Given the description of an element on the screen output the (x, y) to click on. 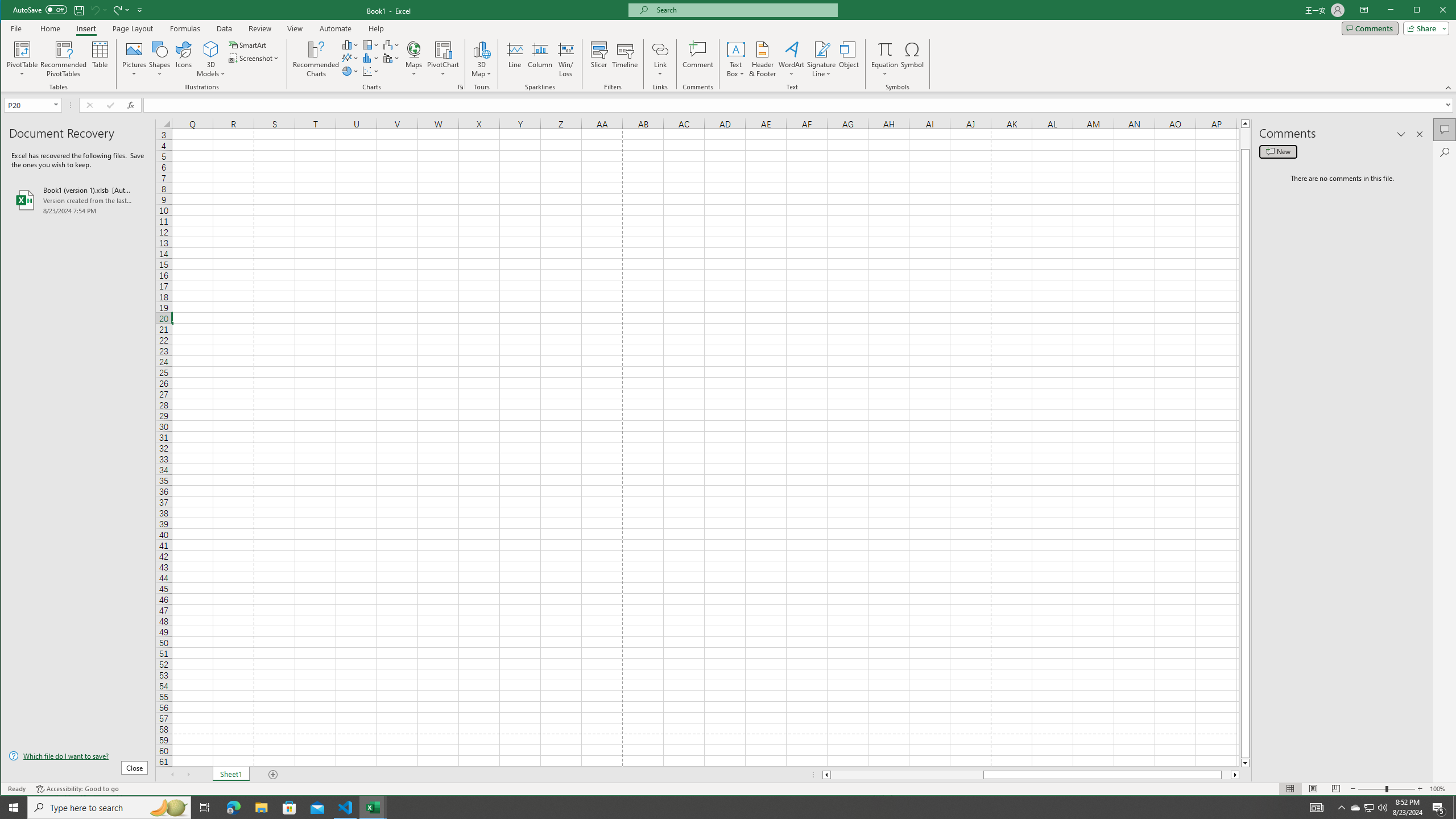
Draw Horizontal Text Box (735, 48)
SmartArt... (248, 44)
3D Models (211, 59)
Show desktop (1454, 807)
PivotChart (443, 59)
Maps (413, 59)
Screenshot (254, 57)
Book1 (version 1).xlsb  [AutoRecovered] (78, 199)
